Given the description of an element on the screen output the (x, y) to click on. 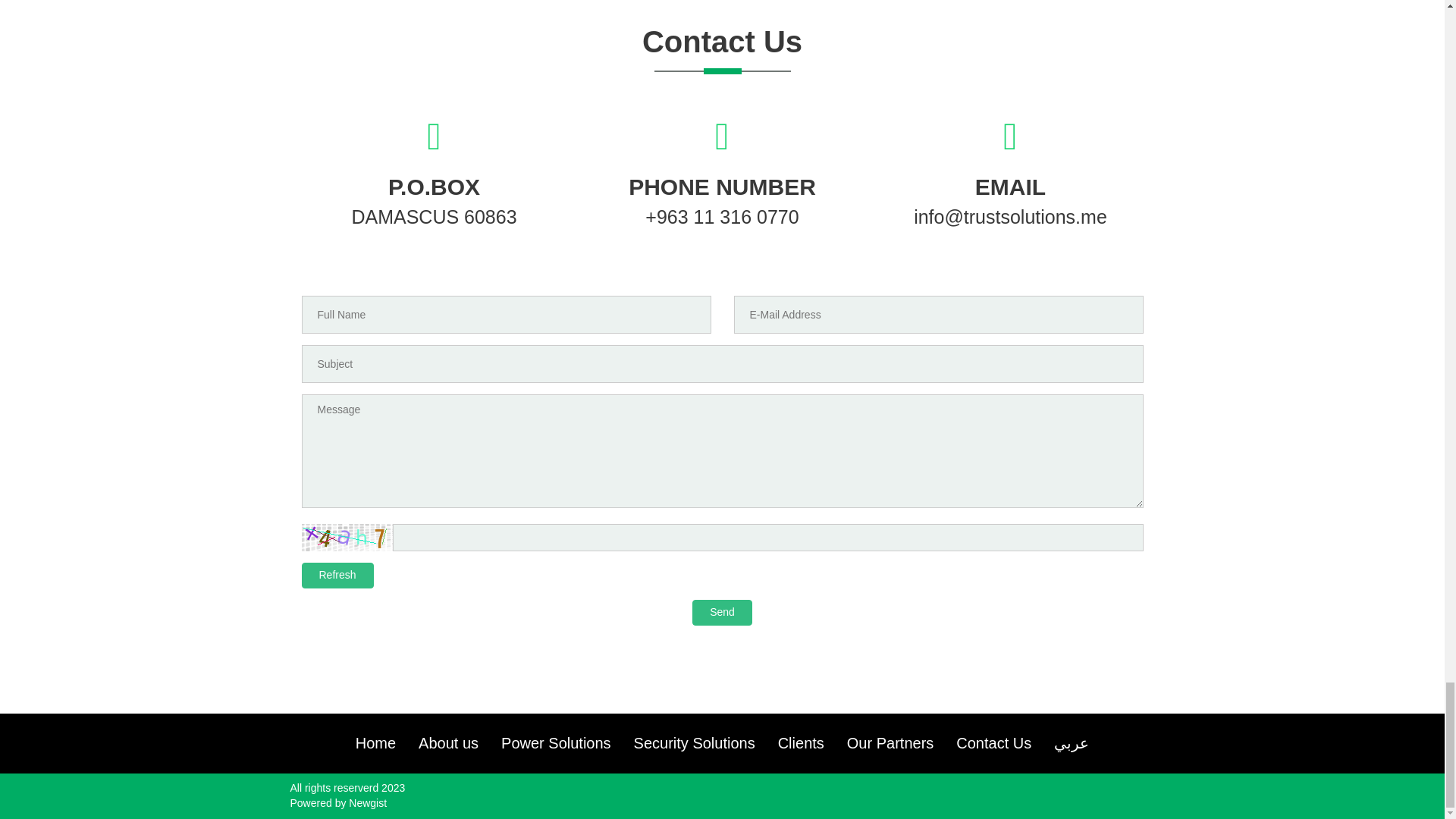
Security Solutions (694, 742)
Refresh (337, 575)
Clients (800, 742)
Our Partners (890, 742)
About us (449, 742)
Power Solutions (555, 742)
Home (375, 742)
Send (722, 612)
